Given the description of an element on the screen output the (x, y) to click on. 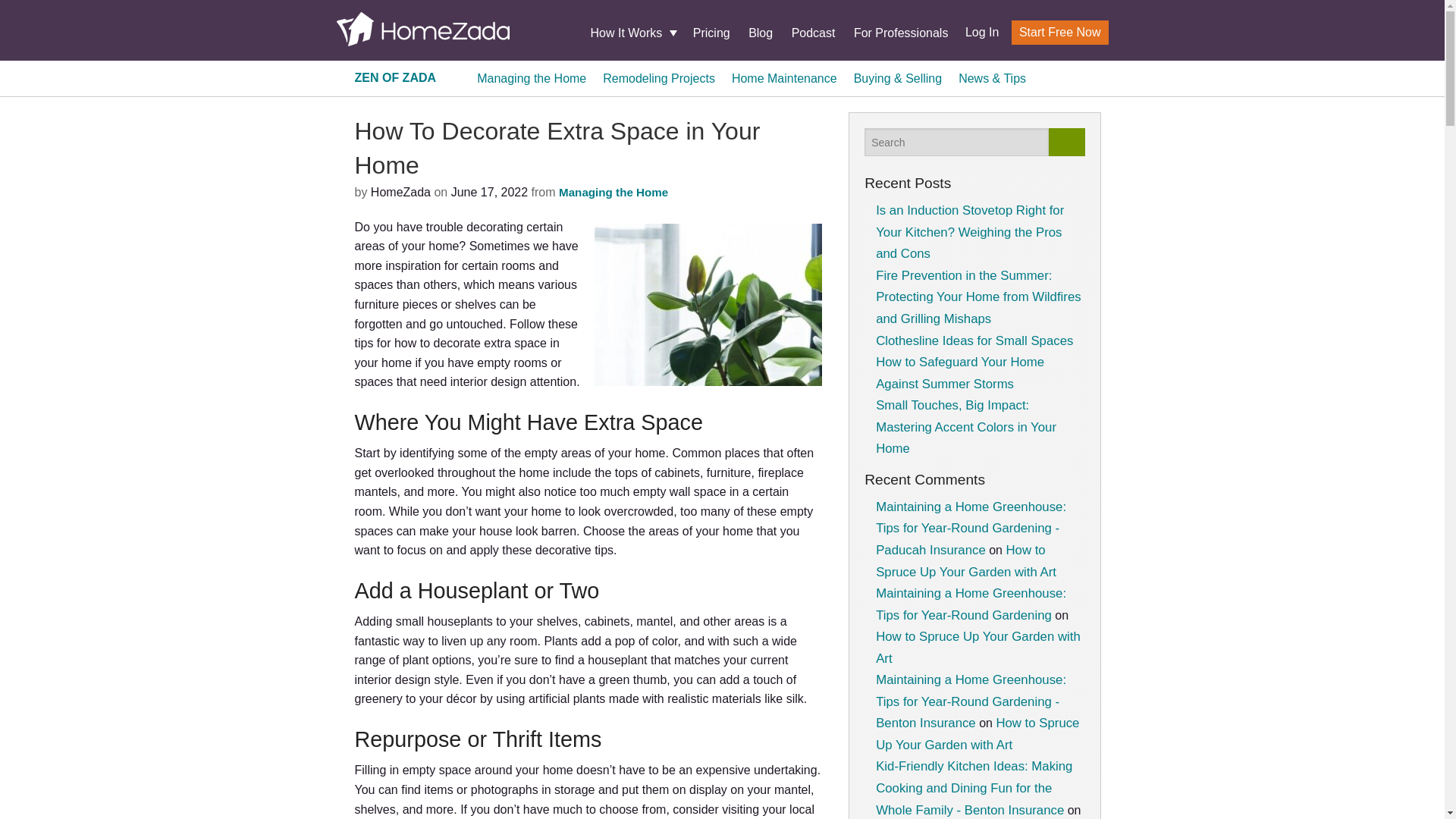
Managing the Home (531, 77)
For Professionals (901, 32)
Start Free Now (1059, 32)
Log In (975, 31)
Podcast (813, 32)
How It Works (632, 33)
Blog (760, 32)
Home Maintenance (784, 77)
Managing the Home (613, 192)
ZEN OF ZADA (395, 77)
